Given the description of an element on the screen output the (x, y) to click on. 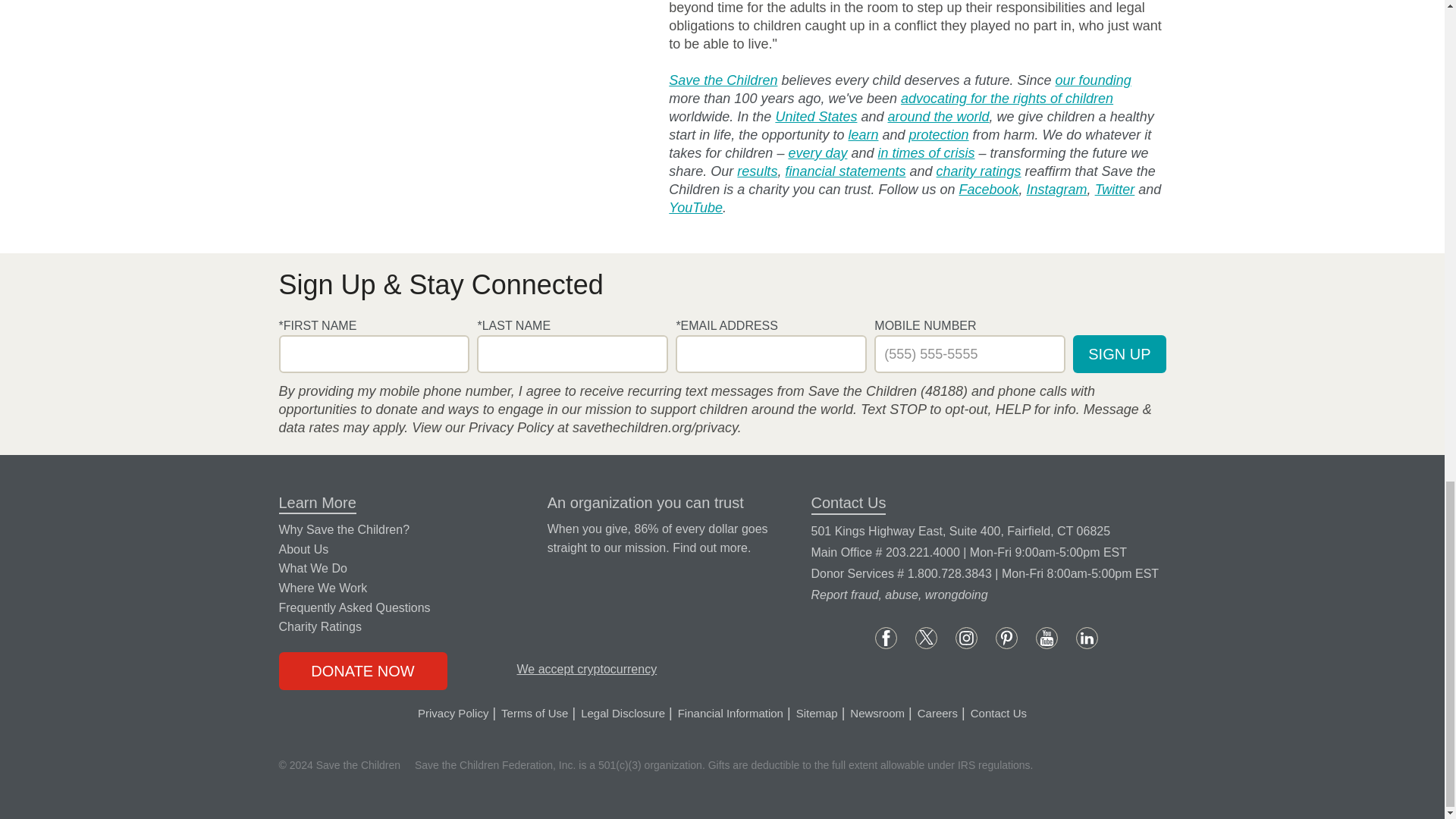
Sign Up (1119, 353)
Advocate for Children (1007, 98)
Charity Ratings (979, 171)
Education (862, 135)
pie-chart (511, 525)
What We Do (817, 153)
Emergency Response and Humanitarian Crises (925, 153)
Help Save Children in America (815, 116)
Eglantyne Jebb (1093, 80)
Results For Children (756, 171)
Financial Information (710, 547)
Protection (938, 135)
Where We Work (937, 116)
